Given the description of an element on the screen output the (x, y) to click on. 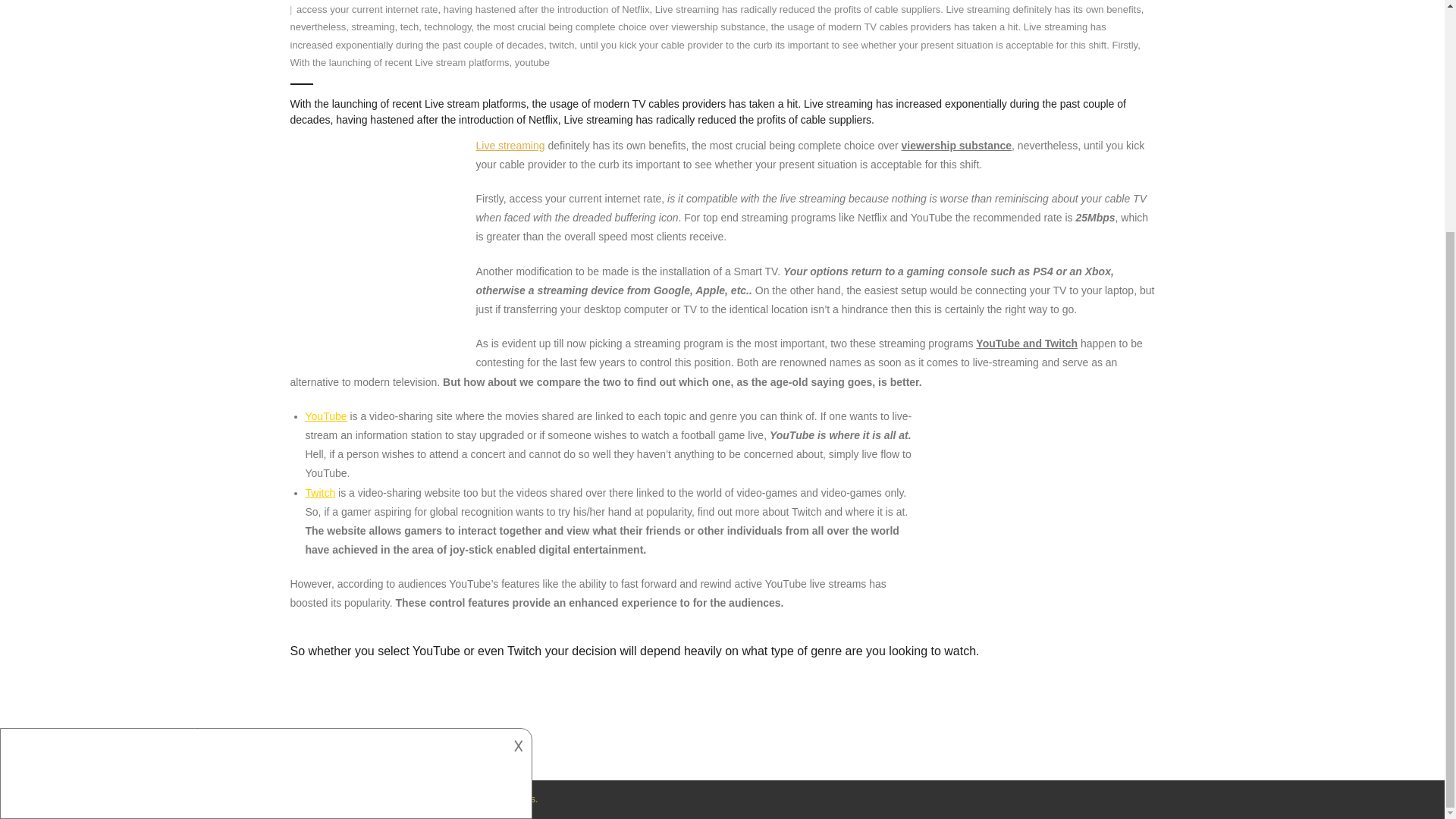
description (264, 455)
Perfecting Your Blog Post (510, 145)
having hastened after the introduction of Netflix (546, 9)
access your current internet rate (367, 9)
